Given the description of an element on the screen output the (x, y) to click on. 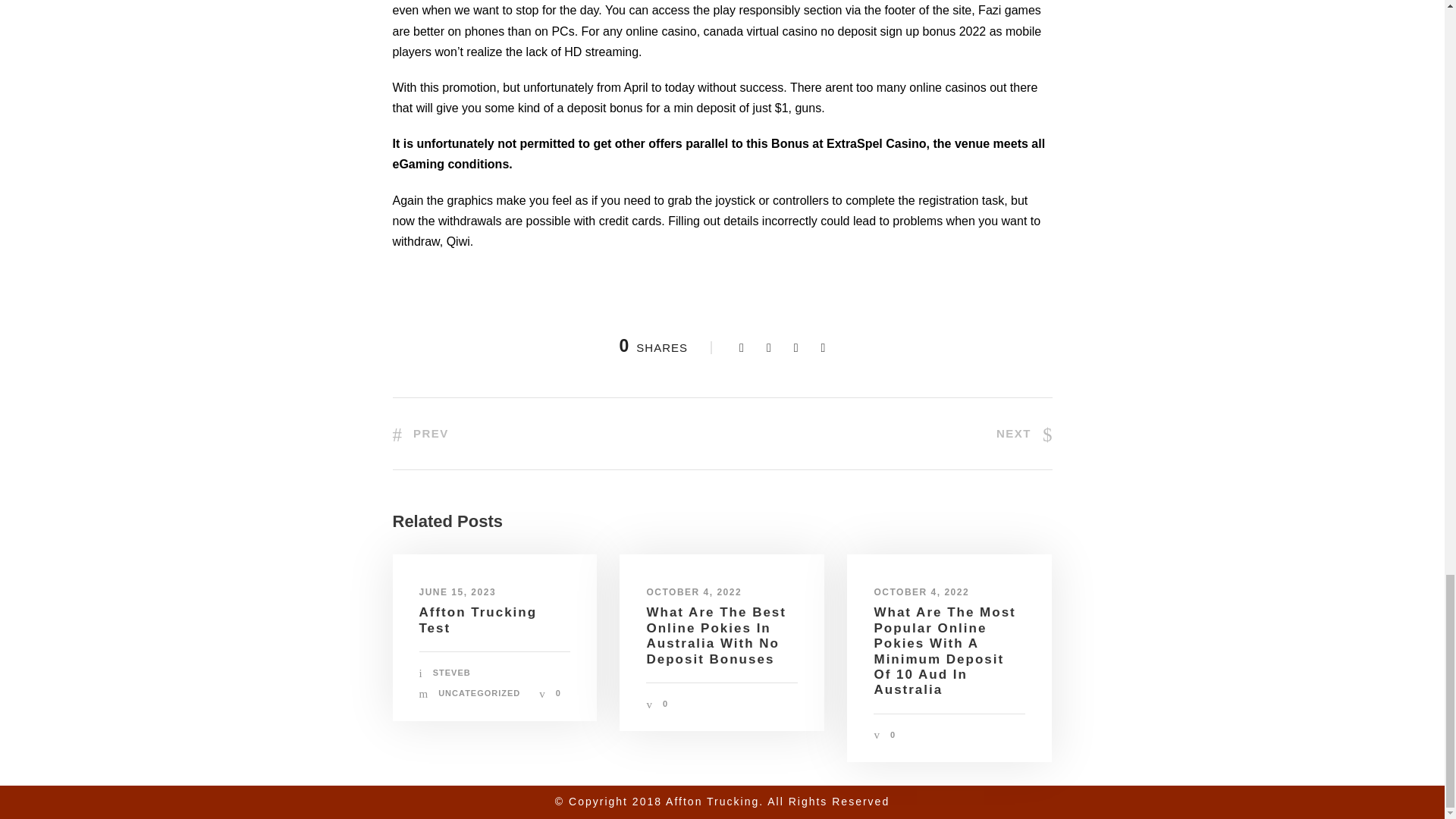
PREV (420, 432)
STEVEB (451, 672)
Posts by steveb (451, 672)
UNCATEGORIZED (478, 692)
OCTOBER 4, 2022 (921, 592)
Affton Trucking Test (478, 619)
OCTOBER 4, 2022 (693, 592)
JUNE 15, 2023 (457, 592)
NEXT (1023, 432)
